Given the description of an element on the screen output the (x, y) to click on. 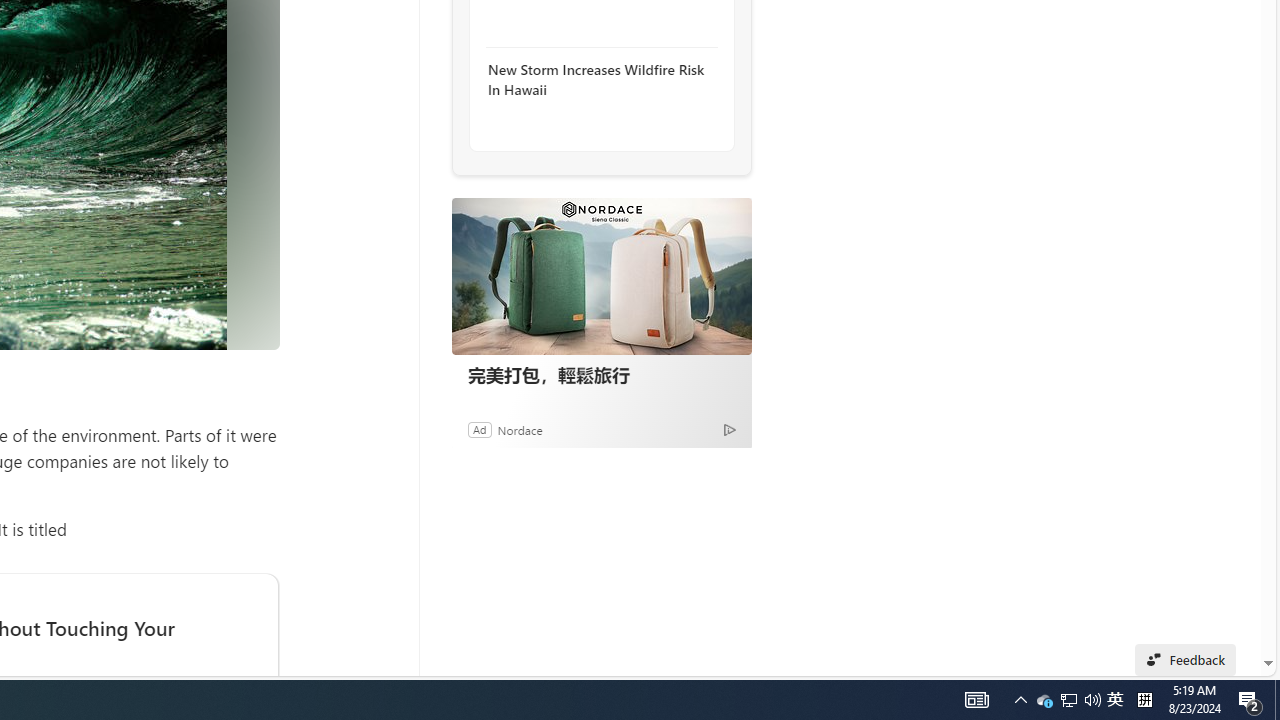
New Storm Increases Wildfire Risk In Hawaii (596, 79)
